Given the description of an element on the screen output the (x, y) to click on. 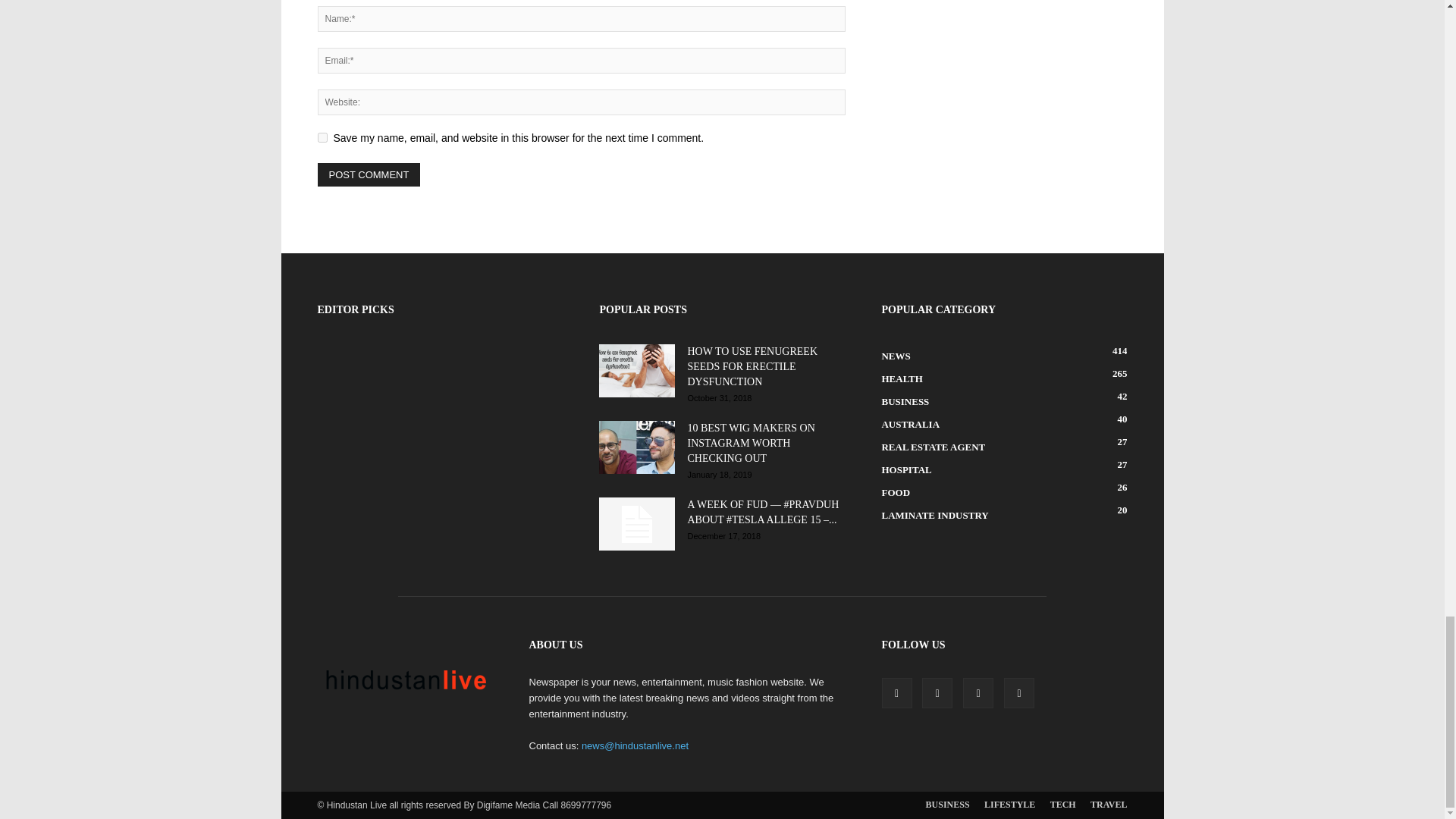
Post Comment (368, 174)
yes (321, 137)
